Given the description of an element on the screen output the (x, y) to click on. 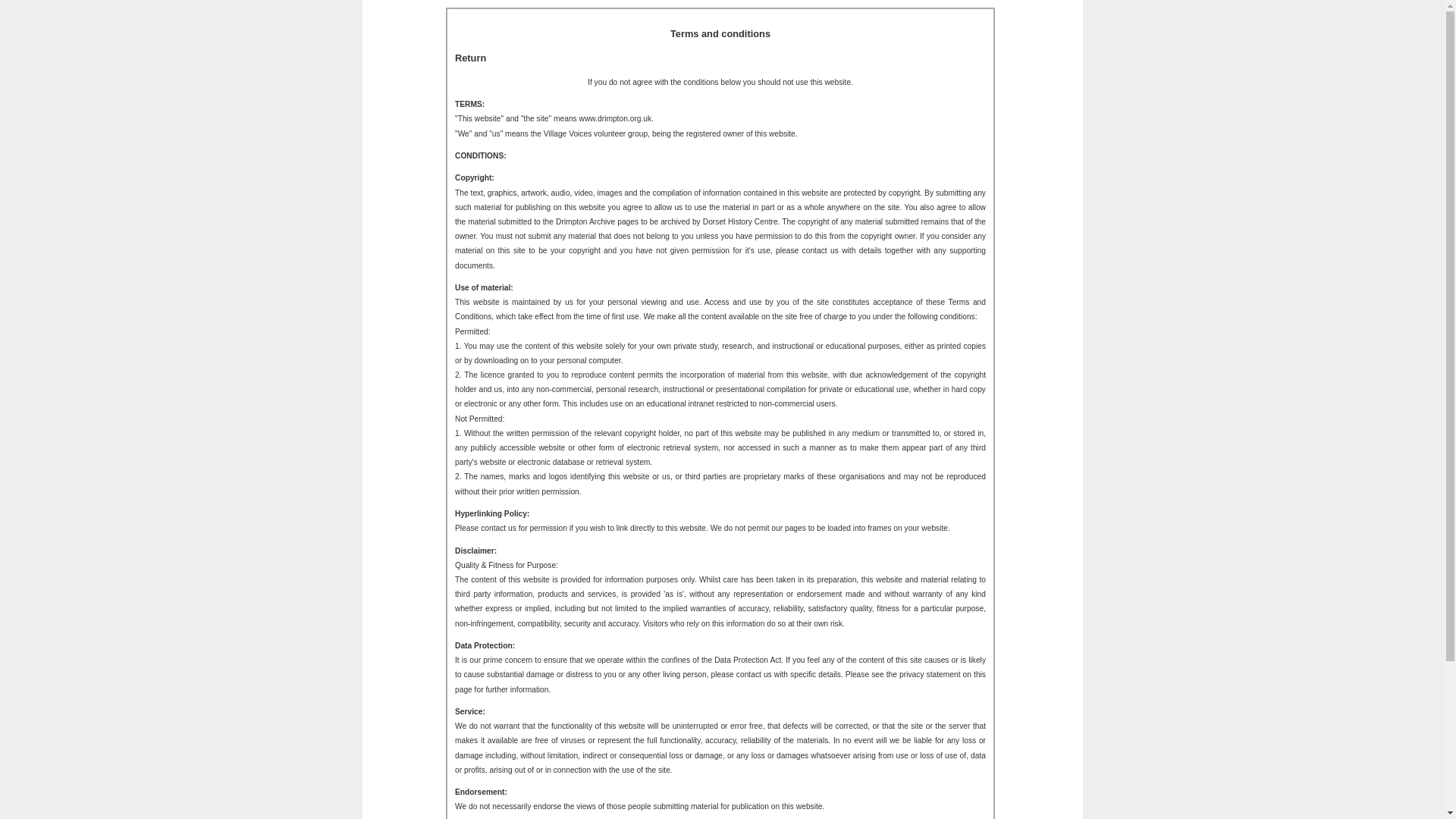
Return (470, 57)
